Given the description of an element on the screen output the (x, y) to click on. 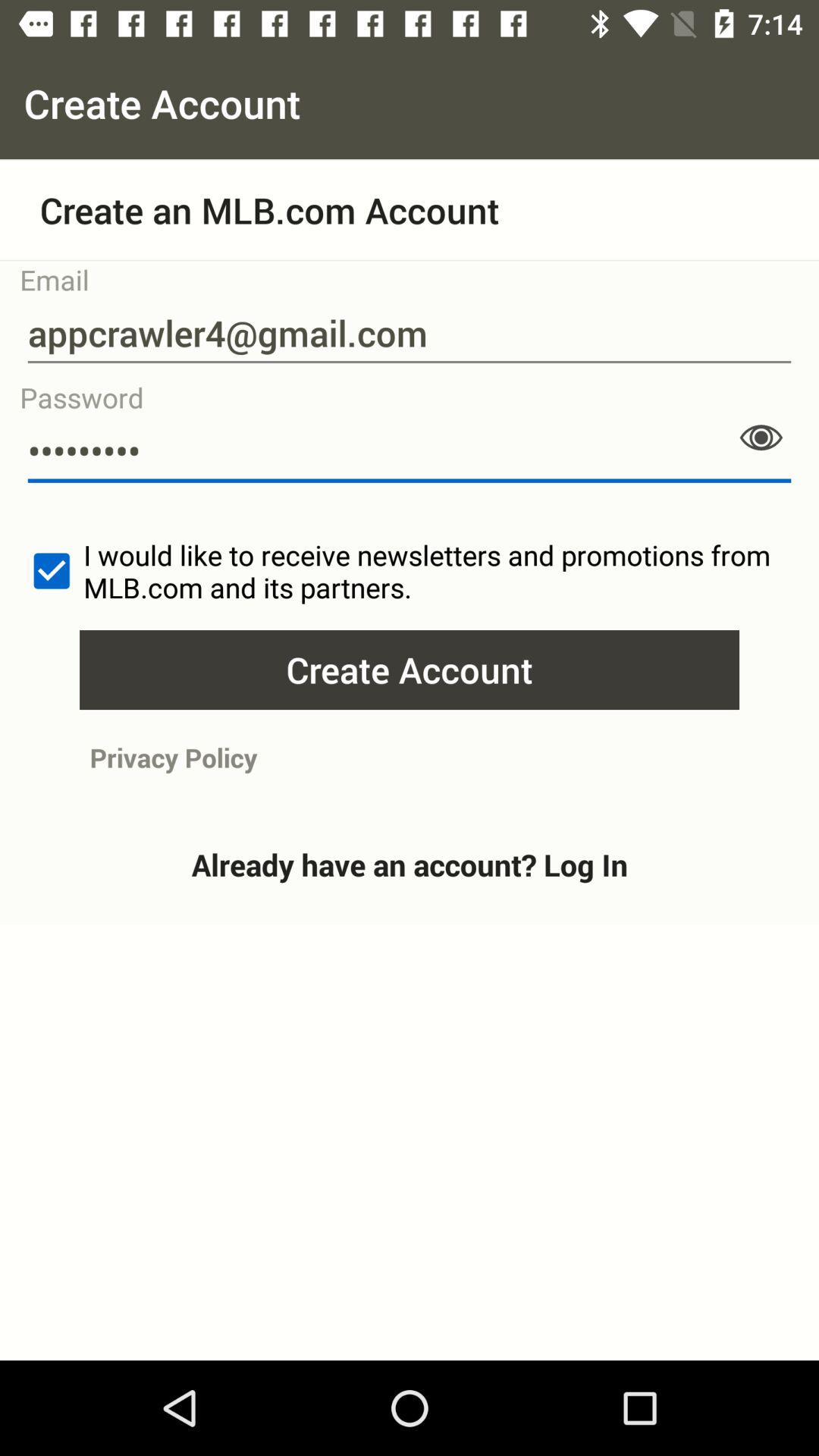
see password (761, 437)
